Given the description of an element on the screen output the (x, y) to click on. 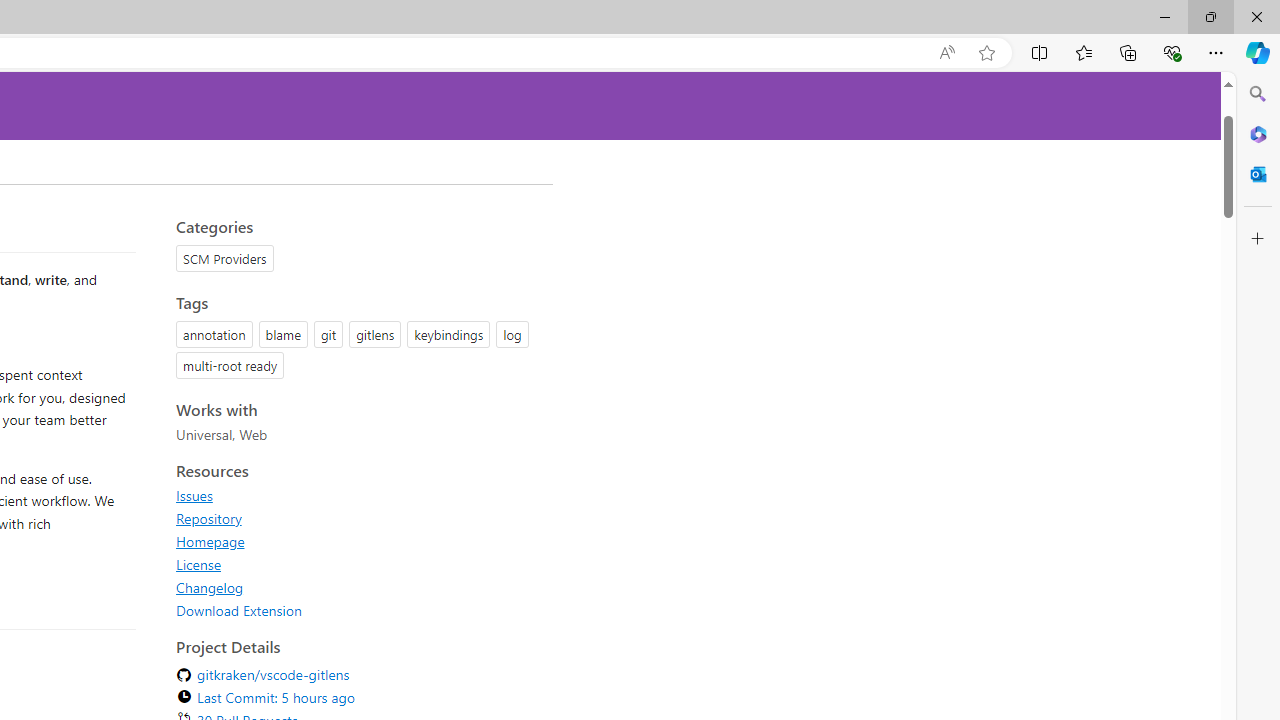
Download Extension (239, 610)
Homepage (210, 541)
Repository (358, 518)
